Given the description of an element on the screen output the (x, y) to click on. 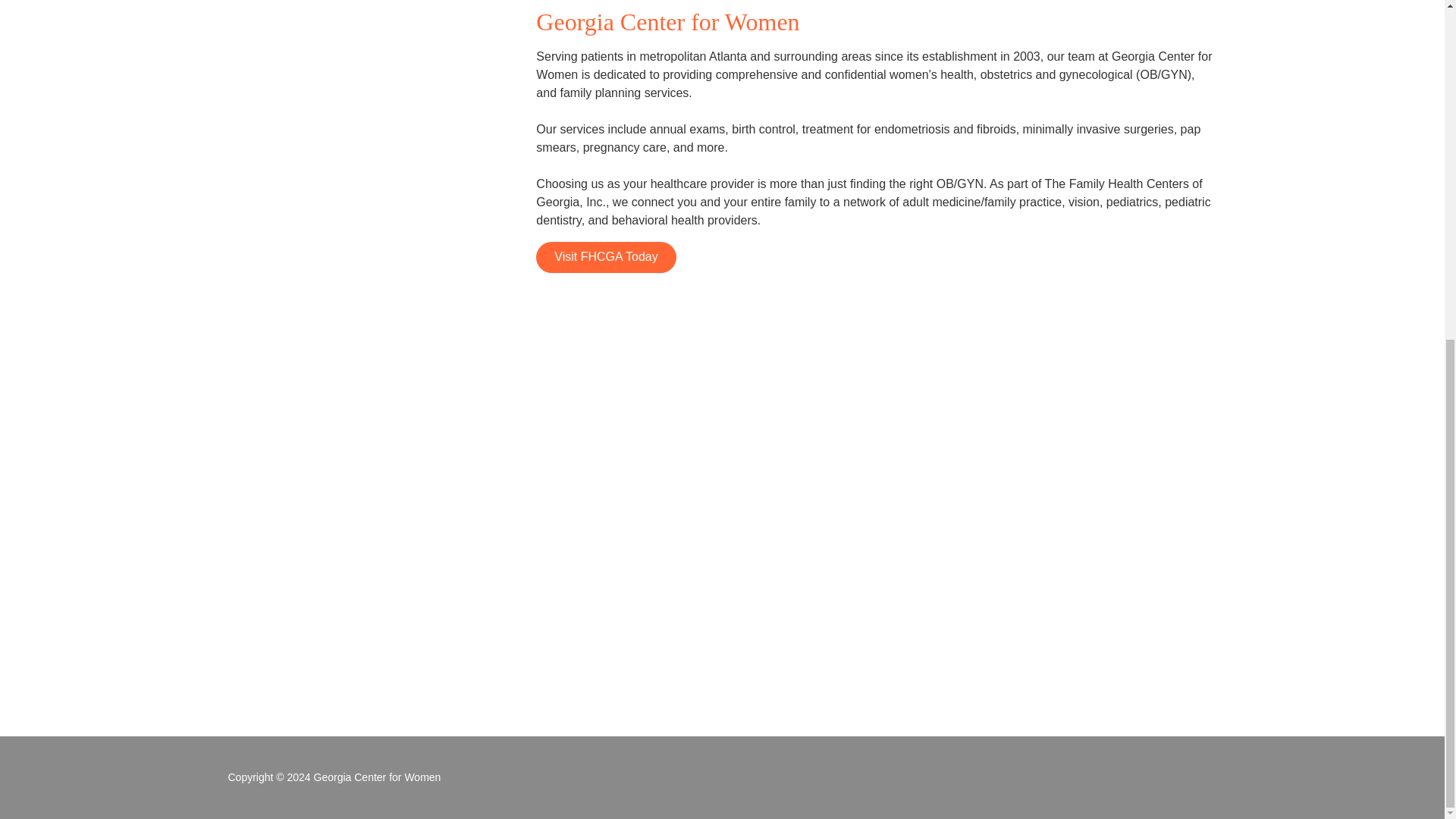
Instagram (756, 777)
Facebook (687, 777)
